Given the description of an element on the screen output the (x, y) to click on. 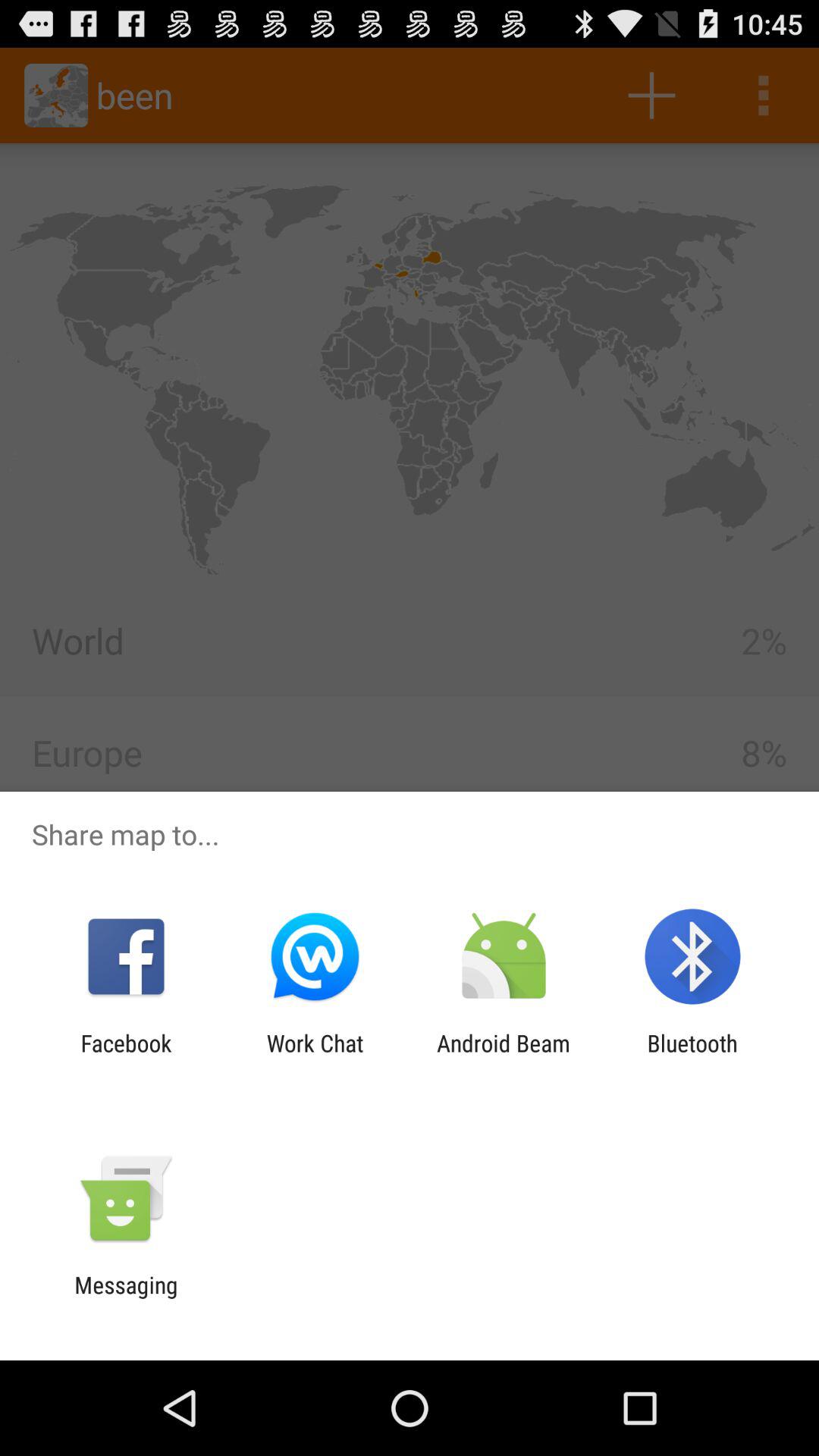
flip until messaging (126, 1298)
